Given the description of an element on the screen output the (x, y) to click on. 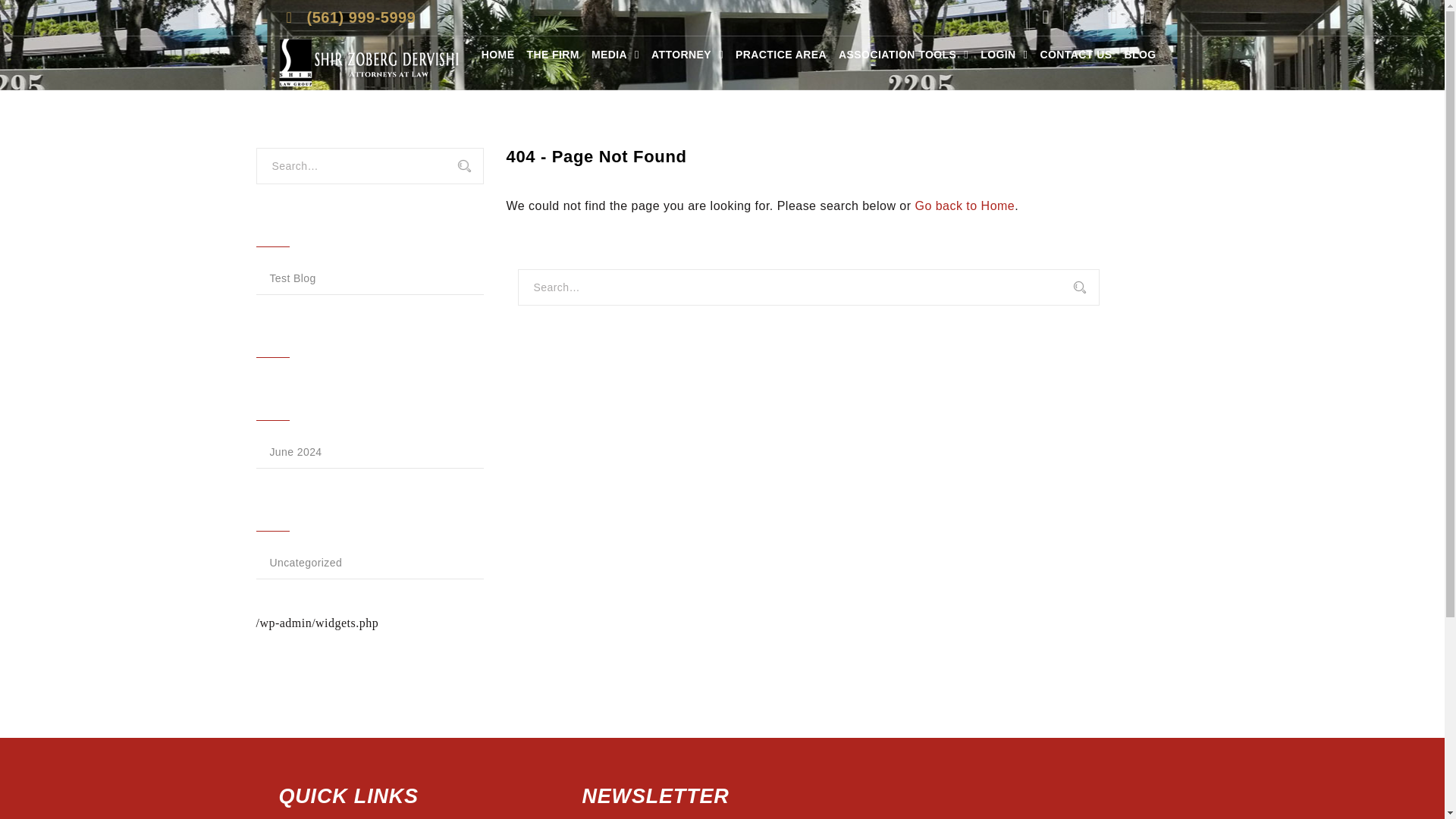
Go (471, 166)
Go (471, 166)
Go (1088, 287)
ATTORNEY (687, 54)
Facebook (1079, 18)
BLOG (1139, 54)
Go (471, 166)
YouTube (1114, 18)
Uncategorized (369, 562)
PRACTICE AREA (780, 54)
Test Blog (369, 278)
MEDIA (615, 54)
HOME (498, 54)
CONTACT US (1075, 54)
LOGIN (1003, 54)
